Given the description of an element on the screen output the (x, y) to click on. 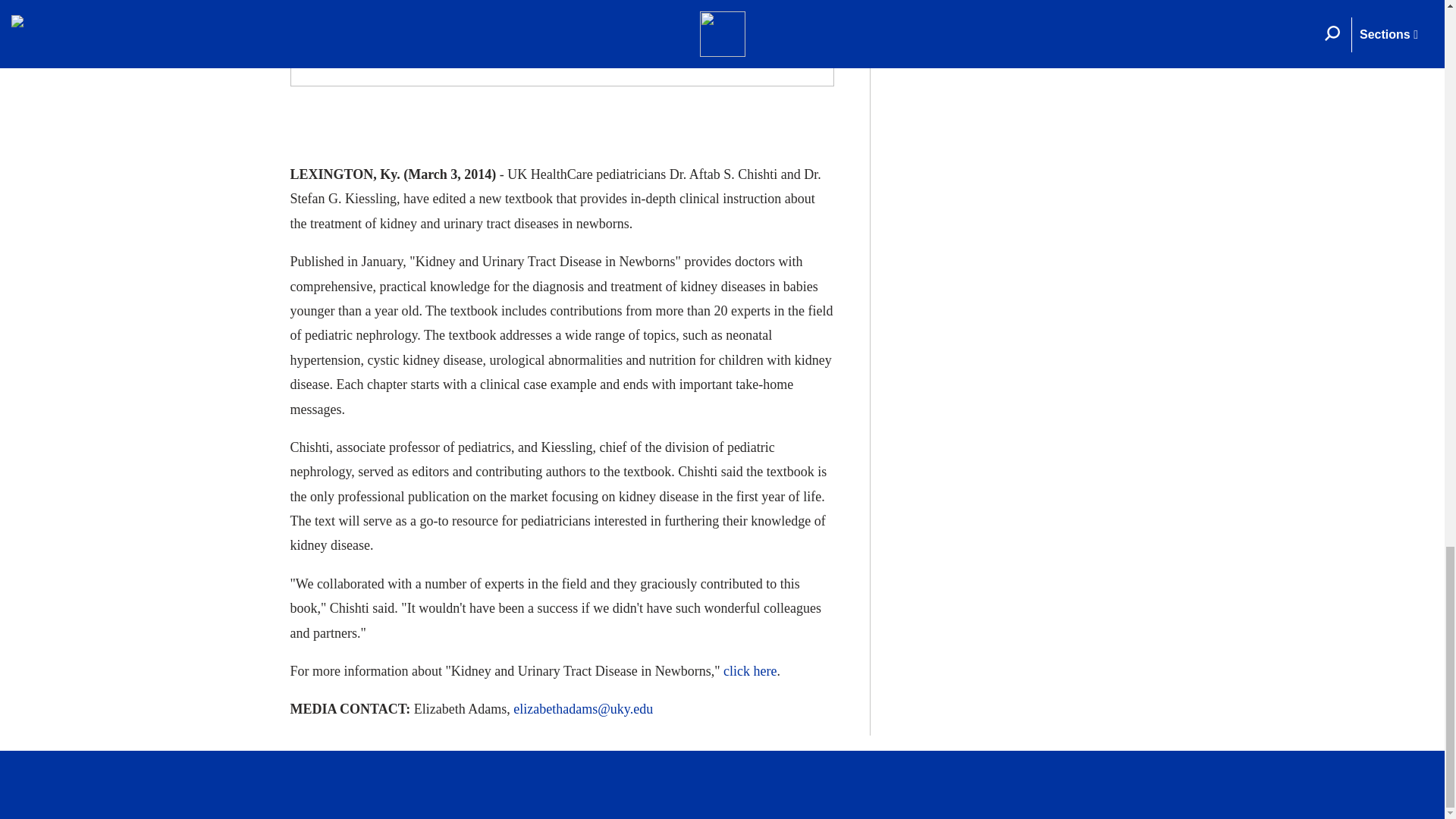
click here (749, 670)
